Given the description of an element on the screen output the (x, y) to click on. 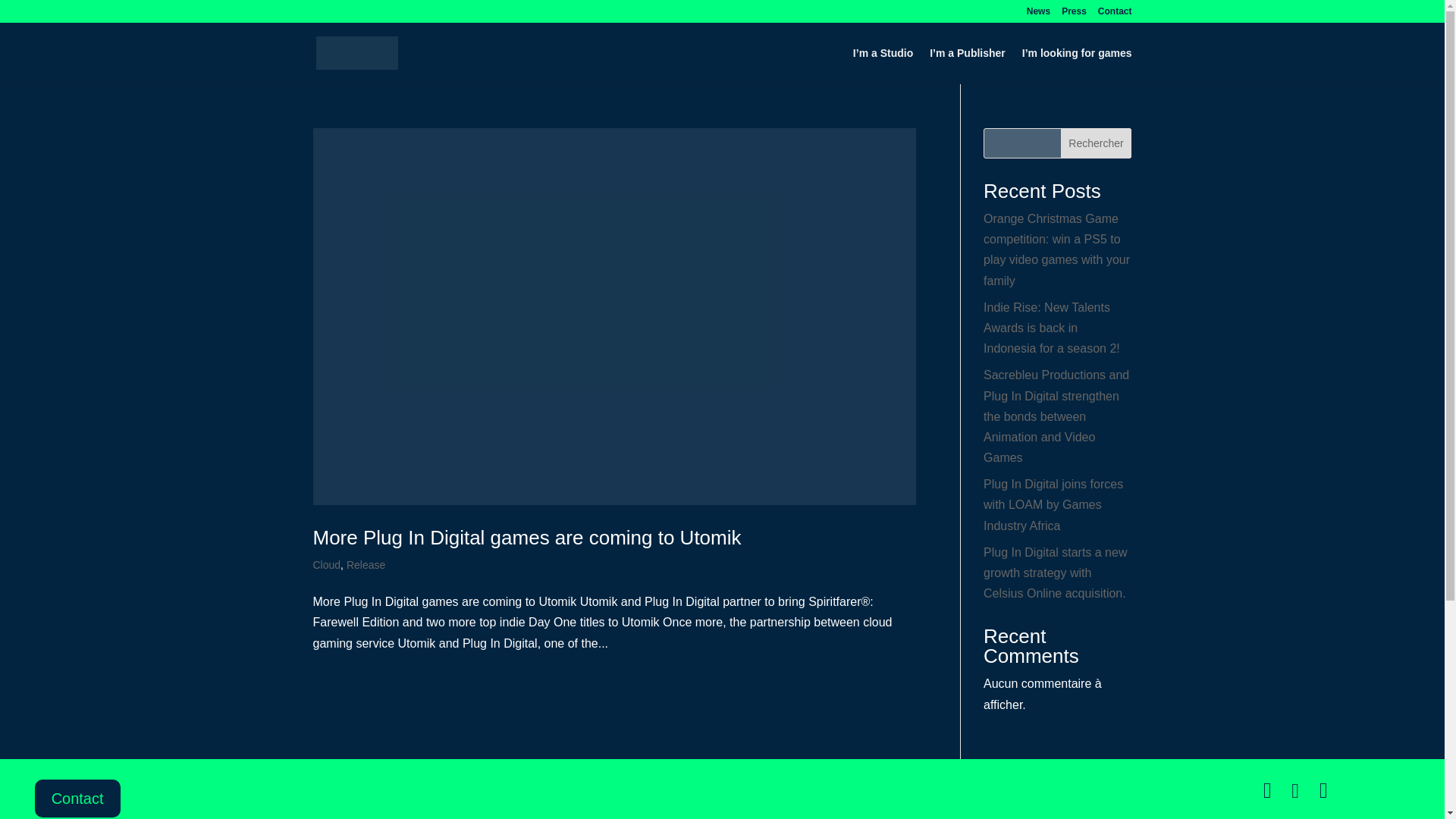
Rechercher (1096, 142)
Release (365, 564)
Contact (1114, 14)
News (1037, 14)
Press (1073, 14)
Cloud (326, 564)
More Plug In Digital games are coming to Utomik (527, 537)
Contact (77, 798)
